Given the description of an element on the screen output the (x, y) to click on. 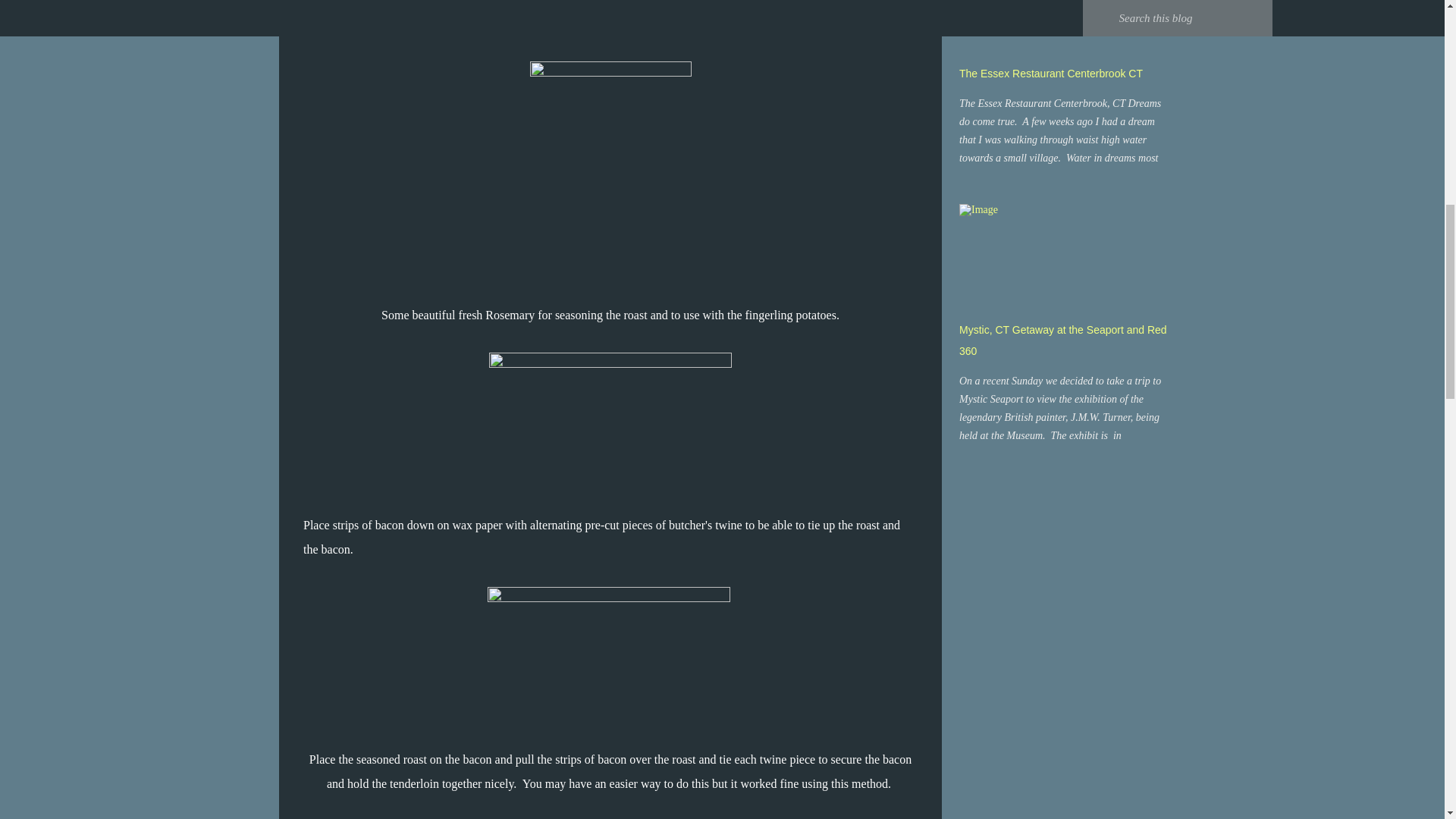
The Essex Restaurant Centerbrook CT (1050, 73)
Mystic, CT Getaway at the Seaport and Red 360 (1063, 340)
